Given the description of an element on the screen output the (x, y) to click on. 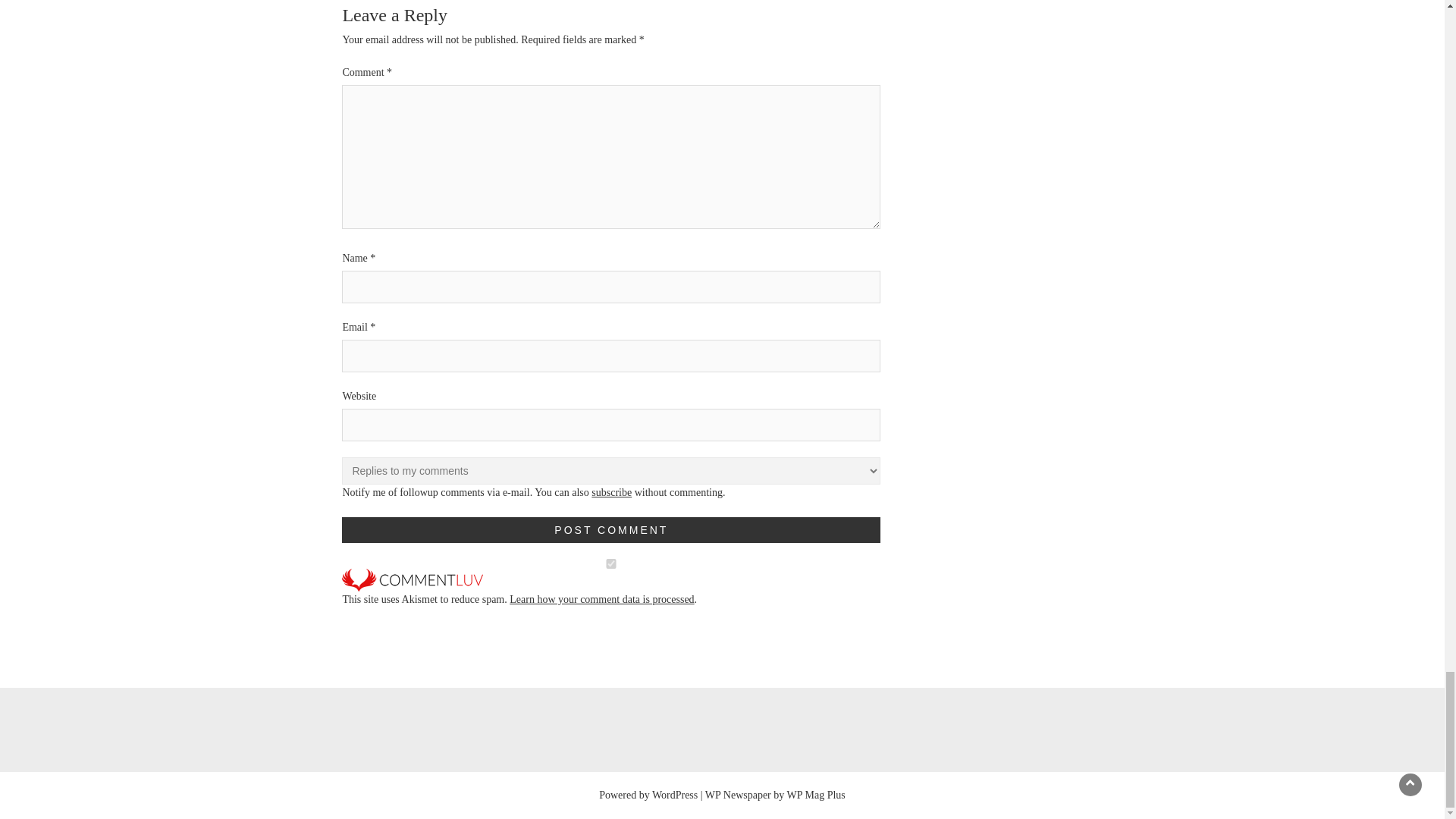
CommentLuv is enabled (412, 578)
on (611, 563)
Post Comment (611, 529)
